Given the description of an element on the screen output the (x, y) to click on. 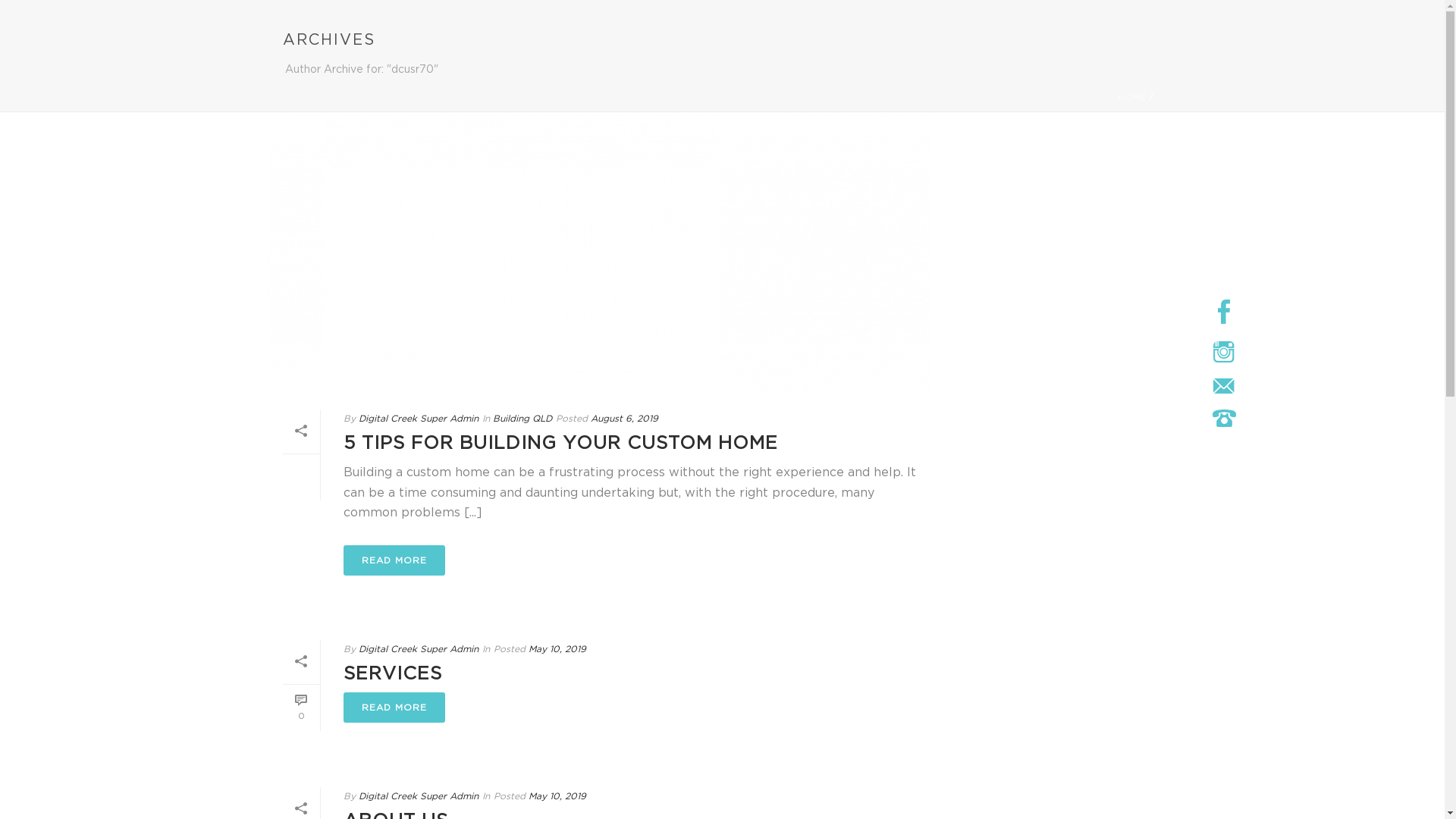
SERVICES Element type: text (391, 672)
May 10, 2019 Element type: text (556, 795)
May 10, 2019 Element type: text (556, 648)
Digital Creek Super Admin Element type: text (417, 418)
August 6, 2019 Element type: text (623, 418)
HOME Element type: text (1131, 97)
0 Element type: text (300, 707)
5 Tips for Building Your Custom Home Element type: hover (598, 251)
  Element type: text (598, 251)
Building QLD Element type: text (522, 418)
Digital Creek Super Admin Element type: text (417, 648)
READ MORE Element type: text (393, 707)
READ MORE Element type: text (393, 560)
5 TIPS FOR BUILDING YOUR CUSTOM HOME Element type: text (559, 441)
Digital Creek Super Admin Element type: text (417, 795)
